Given the description of an element on the screen output the (x, y) to click on. 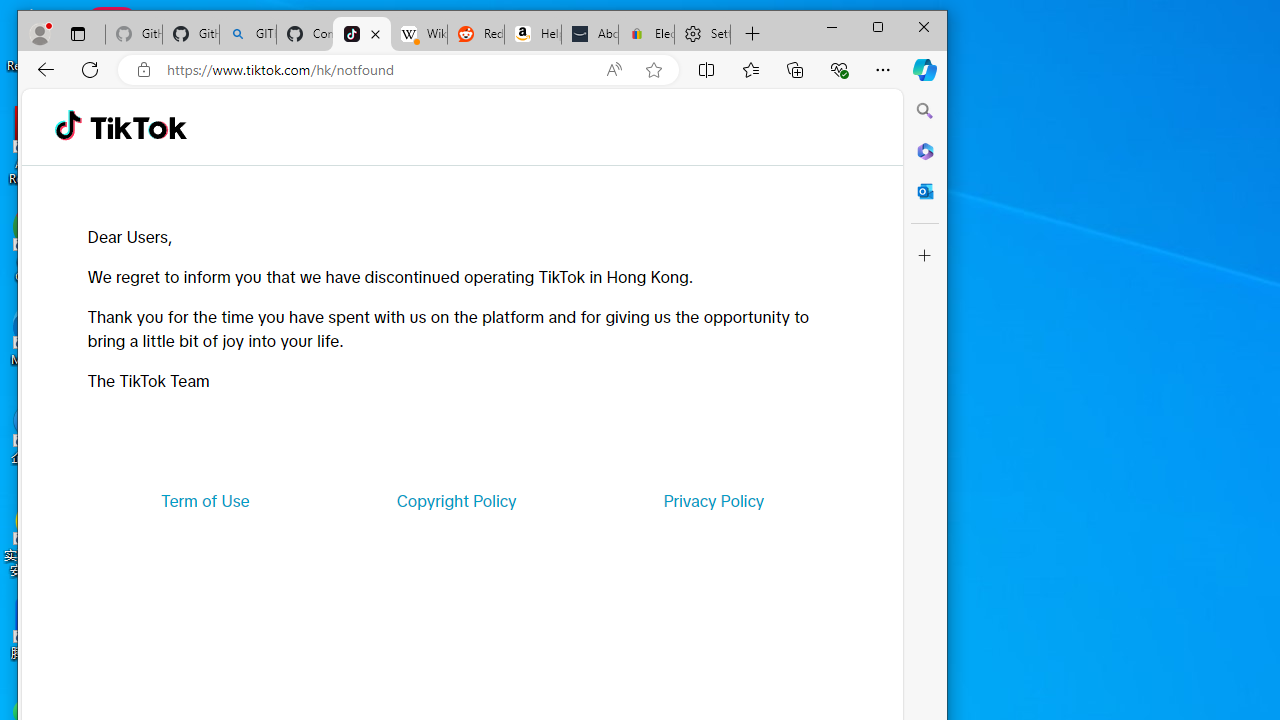
Electronics, Cars, Fashion, Collectibles & More | eBay (646, 34)
About Amazon (589, 34)
